Given the description of an element on the screen output the (x, y) to click on. 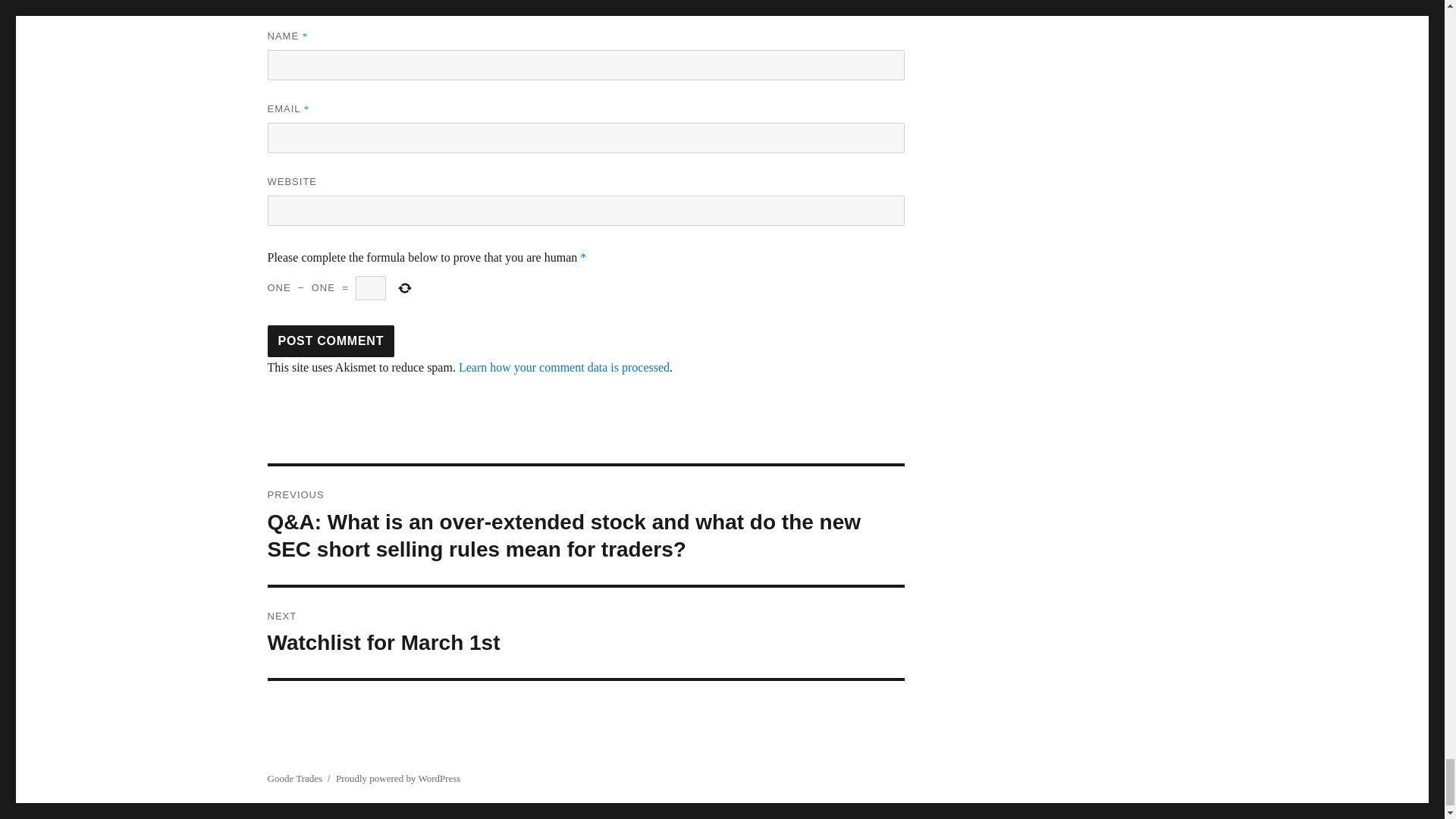
Post Comment (330, 341)
